Given the description of an element on the screen output the (x, y) to click on. 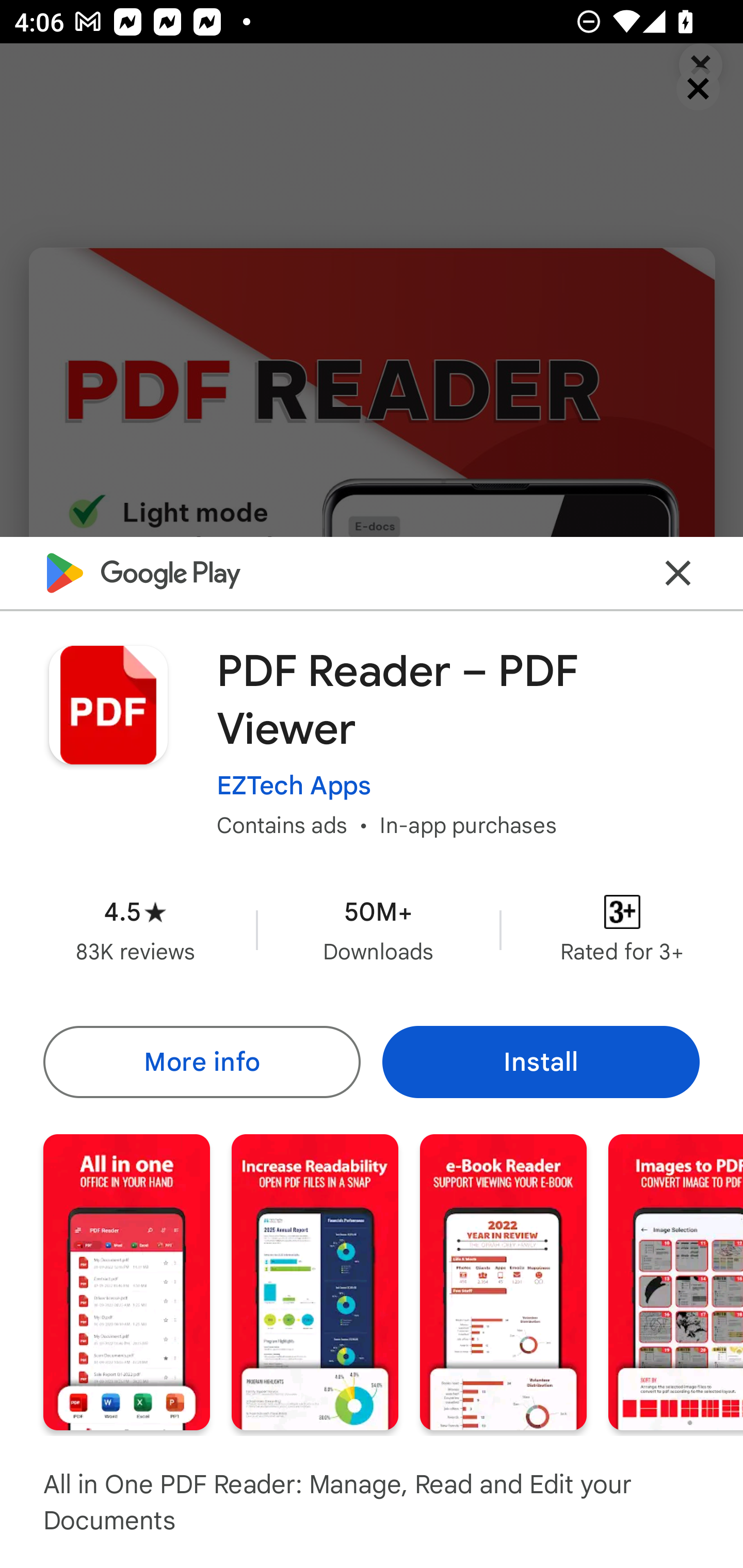
Close (677, 572)
EZTech Apps (293, 784)
More info (201, 1061)
Install (540, 1061)
Screenshot "1" of "7" (126, 1281)
Screenshot "2" of "7" (314, 1281)
Screenshot "3" of "7" (502, 1281)
Screenshot "4" of "7" (675, 1281)
